Given the description of an element on the screen output the (x, y) to click on. 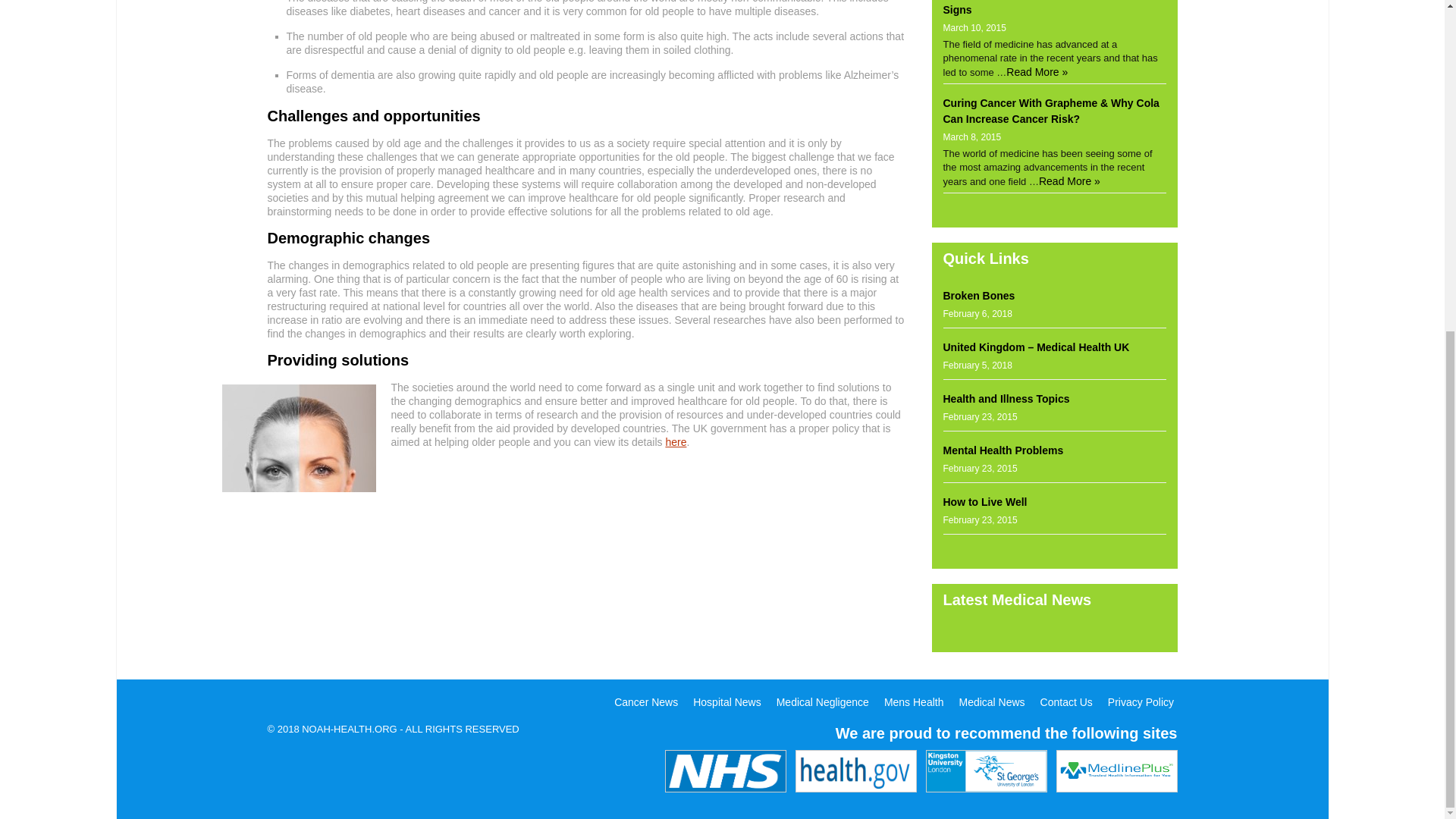
Privacy Policy (1140, 702)
Permalink to How to Live Well (985, 501)
Permalink to Health and Illness Topics (1006, 398)
here (675, 441)
How to Live Well (985, 501)
Mental Health Problems (1003, 450)
Permalink to Broken Bones (978, 295)
Permalink to Mental Health Problems (1003, 450)
Broken Bones (978, 295)
Health and Illness Topics (1006, 398)
Contact Us (1067, 702)
